Given the description of an element on the screen output the (x, y) to click on. 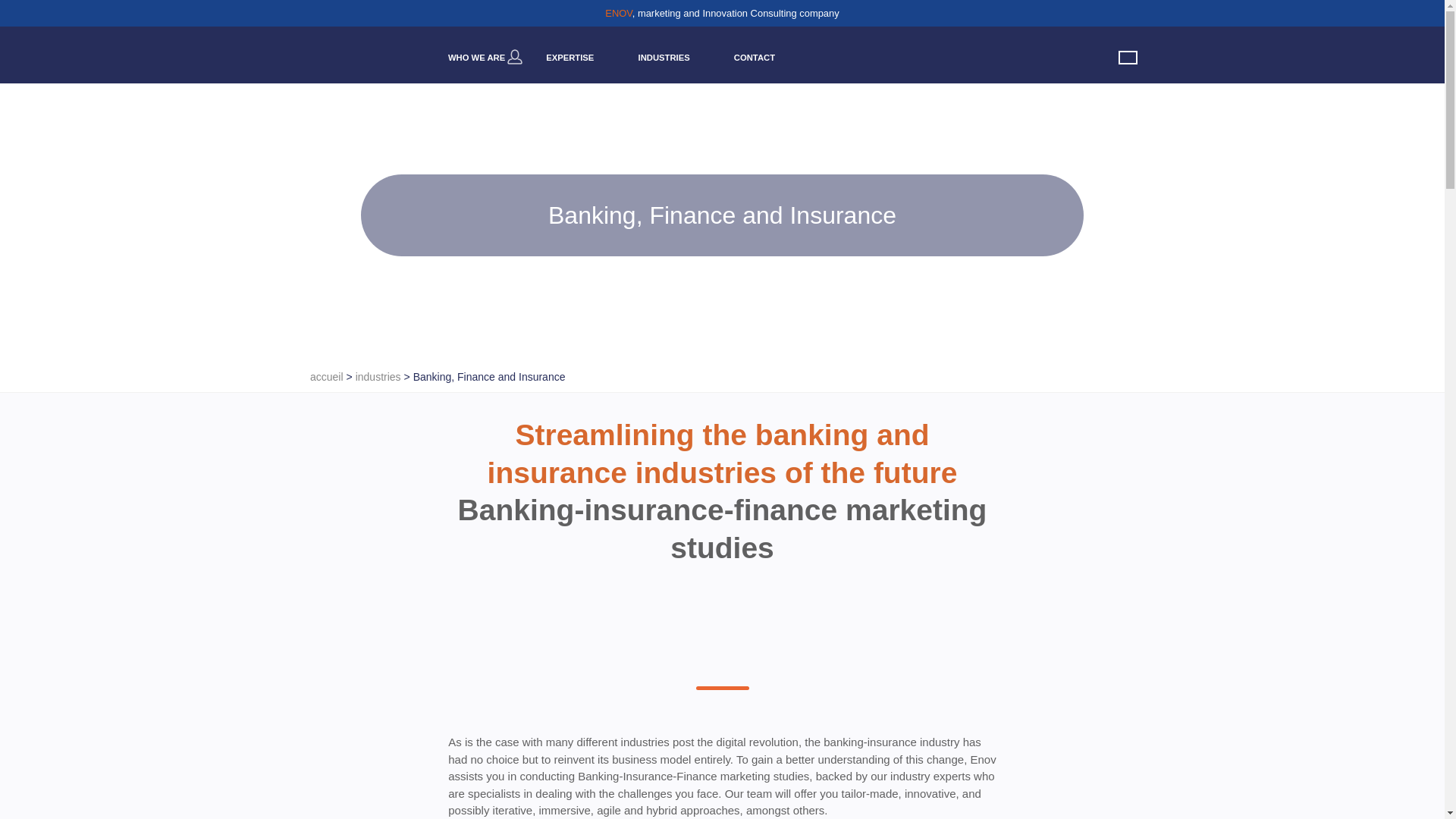
INDUSTRIES (665, 57)
WHO WE ARE (476, 57)
EXPERTISE (569, 57)
Accueil - Enov (326, 376)
CONTACT (755, 57)
